Given the description of an element on the screen output the (x, y) to click on. 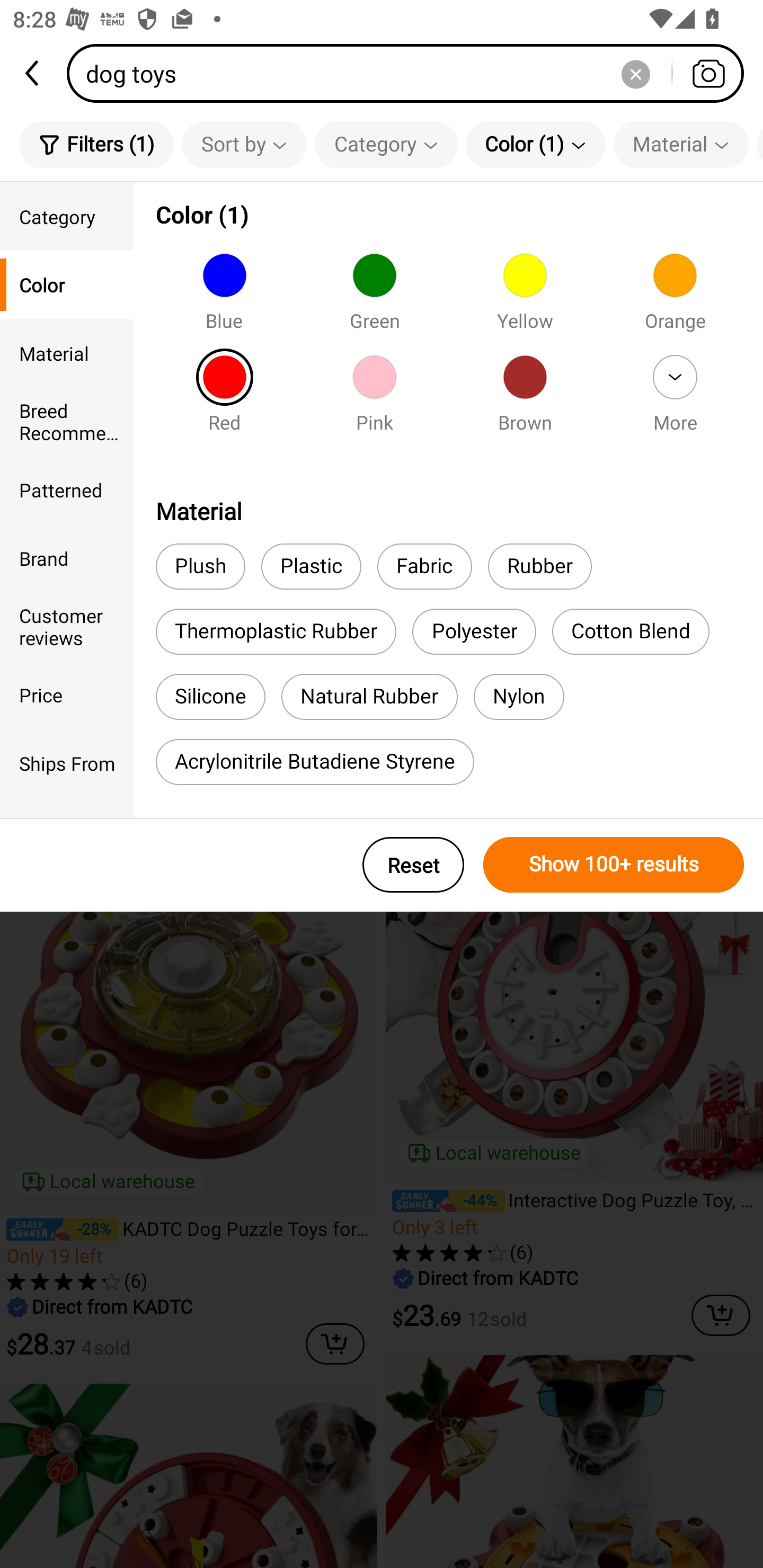
back (33, 72)
dog toys (411, 73)
Delete search history (635, 73)
Search by photo (708, 73)
Filters (1) (96, 143)
Sort by (243, 143)
Category (385, 143)
Color (1) (535, 143)
Material (680, 143)
Category (66, 215)
Green (374, 297)
Color (66, 284)
Material (66, 352)
Red (224, 399)
More (674, 399)
Breed Recommendation (66, 421)
Patterned (66, 489)
Brand (66, 557)
Plush (200, 566)
Plastic (310, 566)
Fabric (424, 566)
Rubber (540, 566)
Customer reviews (66, 626)
Thermoplastic Rubber (275, 631)
Polyester (474, 631)
Cotton Blend (630, 631)
Price (66, 694)
Silicone (210, 696)
Natural Rubber (369, 696)
Nylon (518, 696)
Ships From (66, 762)
Acrylonitrile Butadiene Styrene (314, 761)
Reset (412, 864)
Show 100+ results (612, 864)
